Given the description of an element on the screen output the (x, y) to click on. 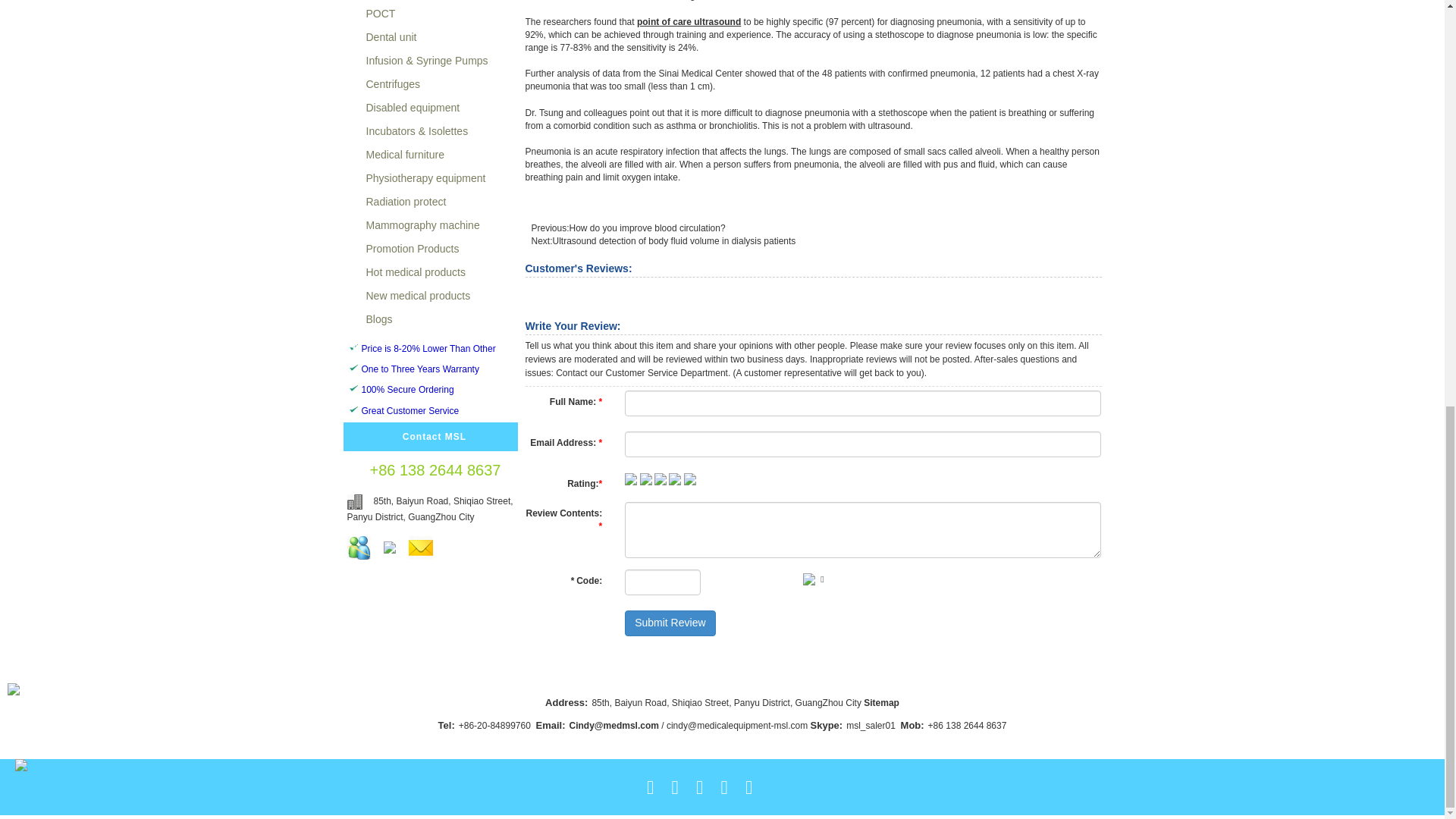
How do you improve blood circulation? (647, 227)
